Given the description of an element on the screen output the (x, y) to click on. 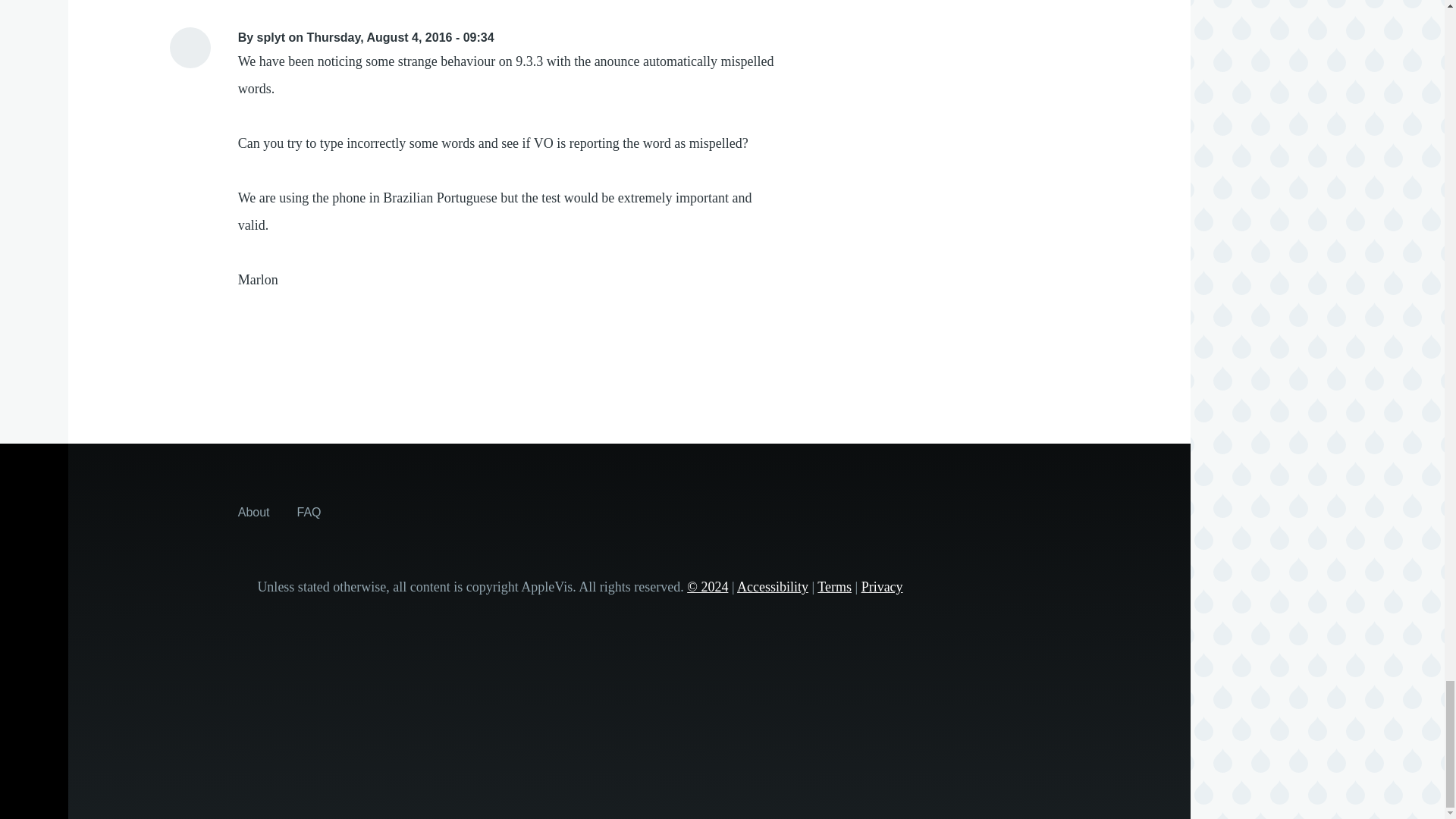
About (253, 511)
